Given the description of an element on the screen output the (x, y) to click on. 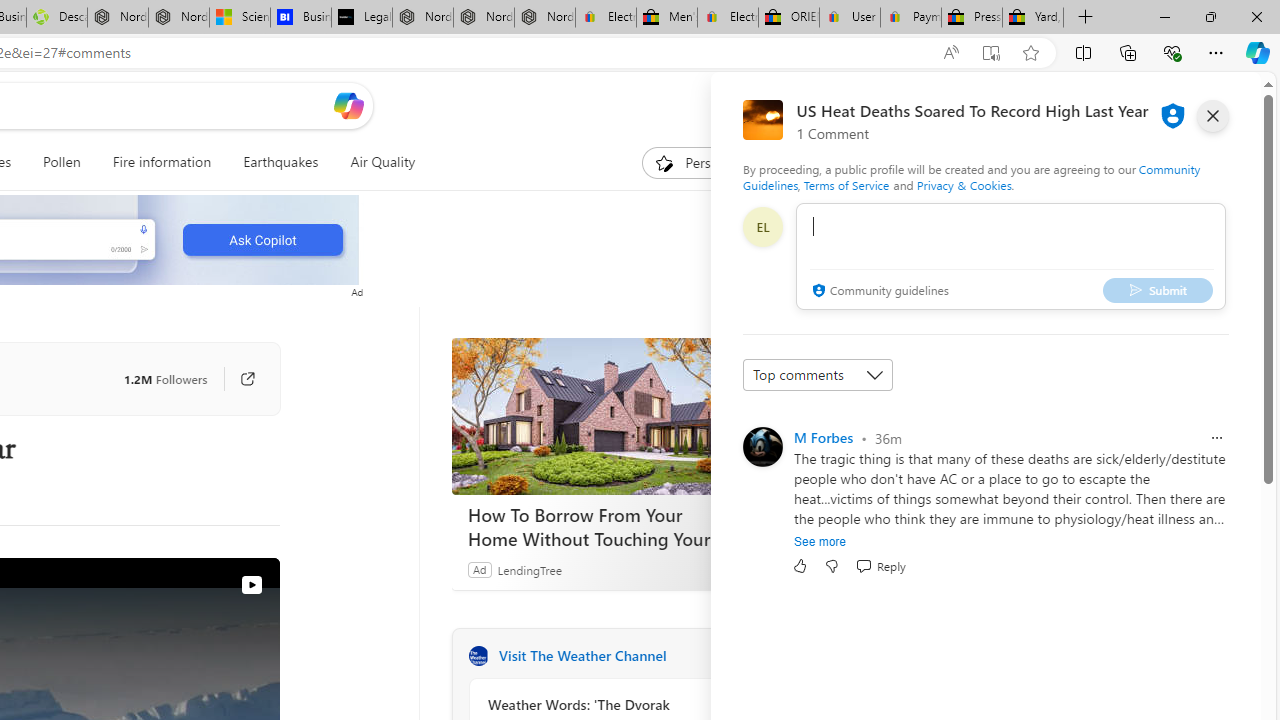
Pollen (61, 162)
Press Room - eBay Inc. (972, 17)
User Privacy Notice | eBay (850, 17)
Go to publisher's site (237, 378)
Ad (479, 569)
Settings and more (Alt+F) (1215, 52)
Air Quality (382, 162)
Air Quality (375, 162)
Terms of Service (846, 184)
comment-box (1011, 256)
Open Copilot (347, 105)
Electronics, Cars, Fashion, Collectibles & More | eBay (727, 17)
Fire information (161, 162)
